Given the description of an element on the screen output the (x, y) to click on. 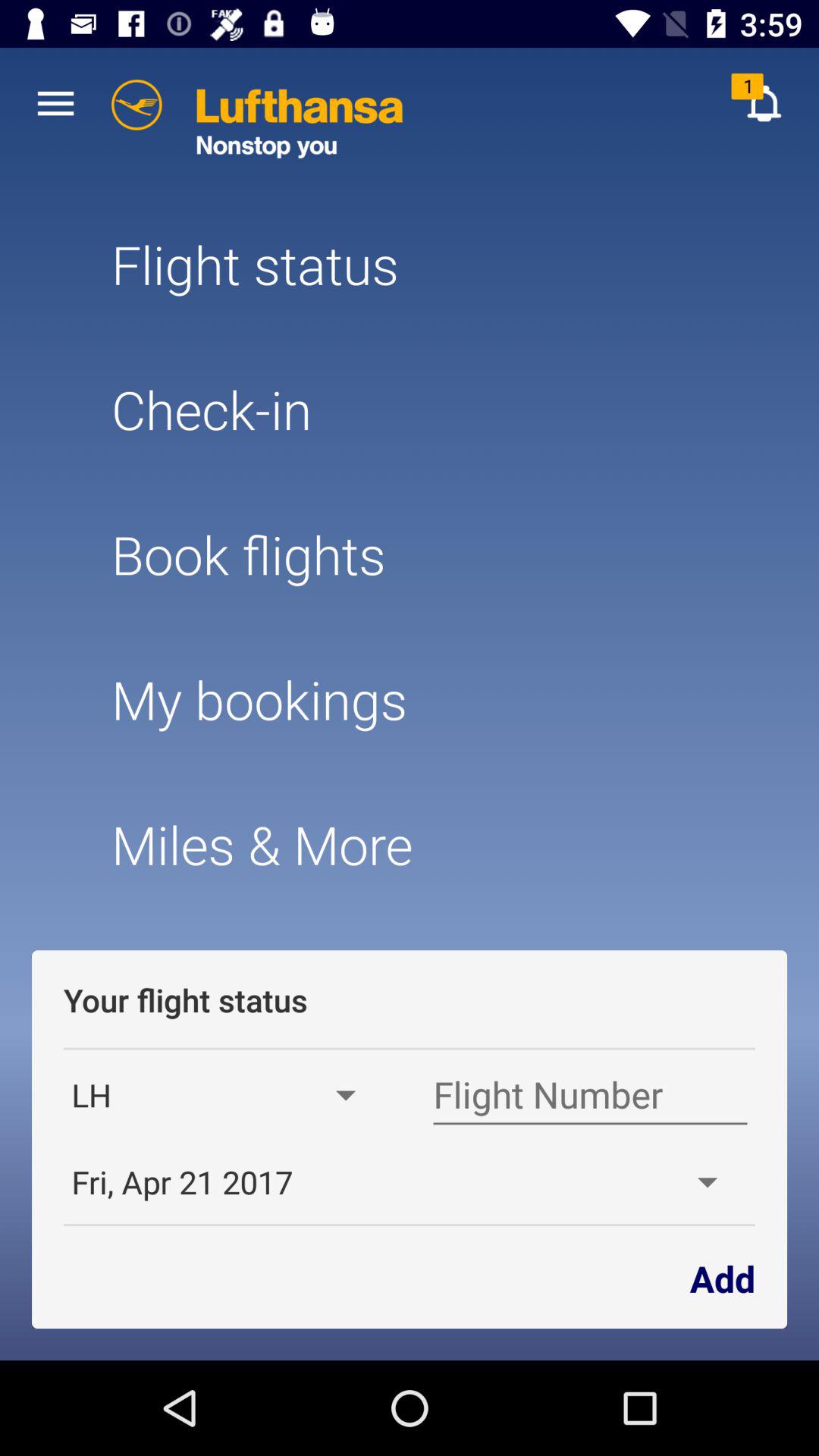
click icon at the top right corner (763, 103)
